Given the description of an element on the screen output the (x, y) to click on. 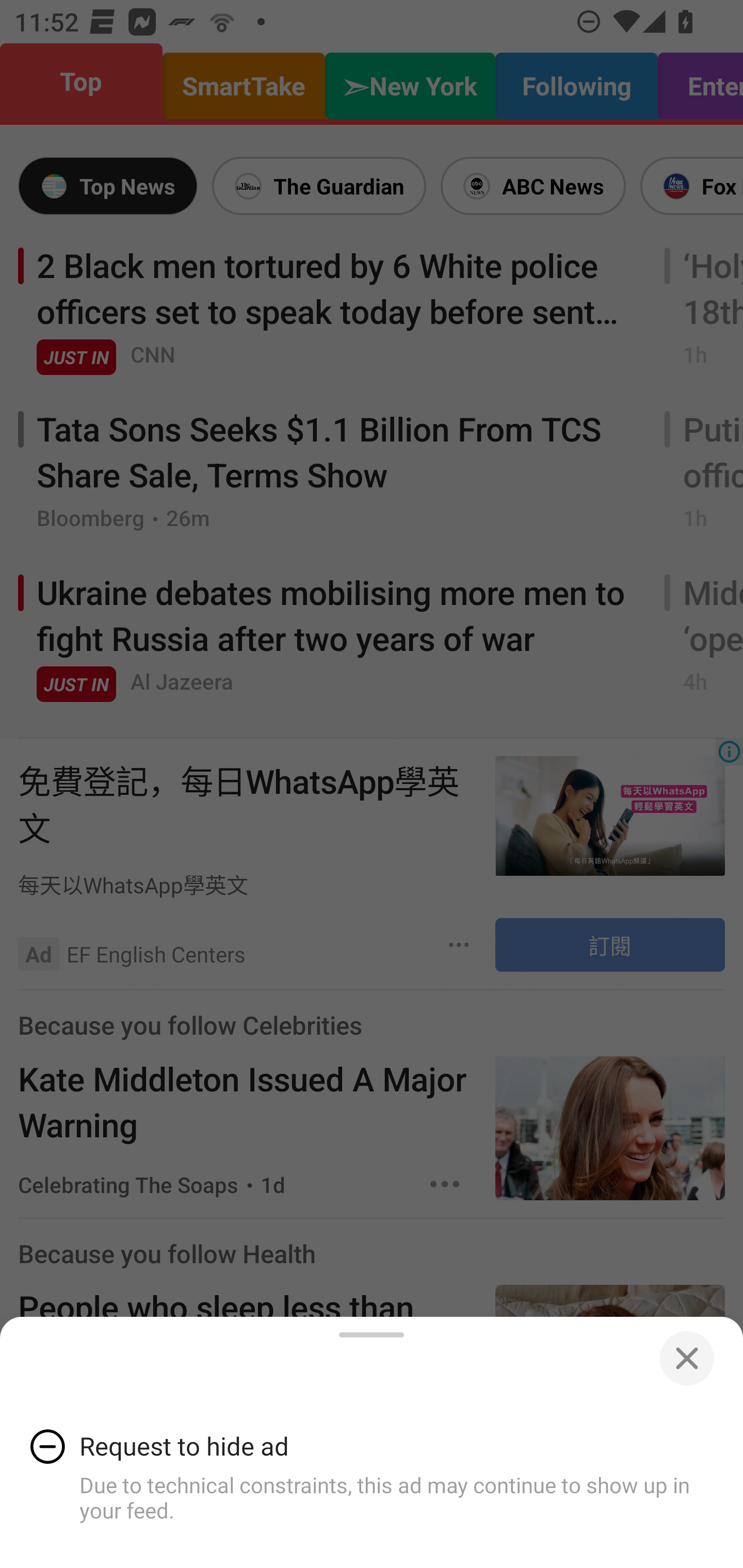
Close bottom sheet (686, 1358)
